Given the description of an element on the screen output the (x, y) to click on. 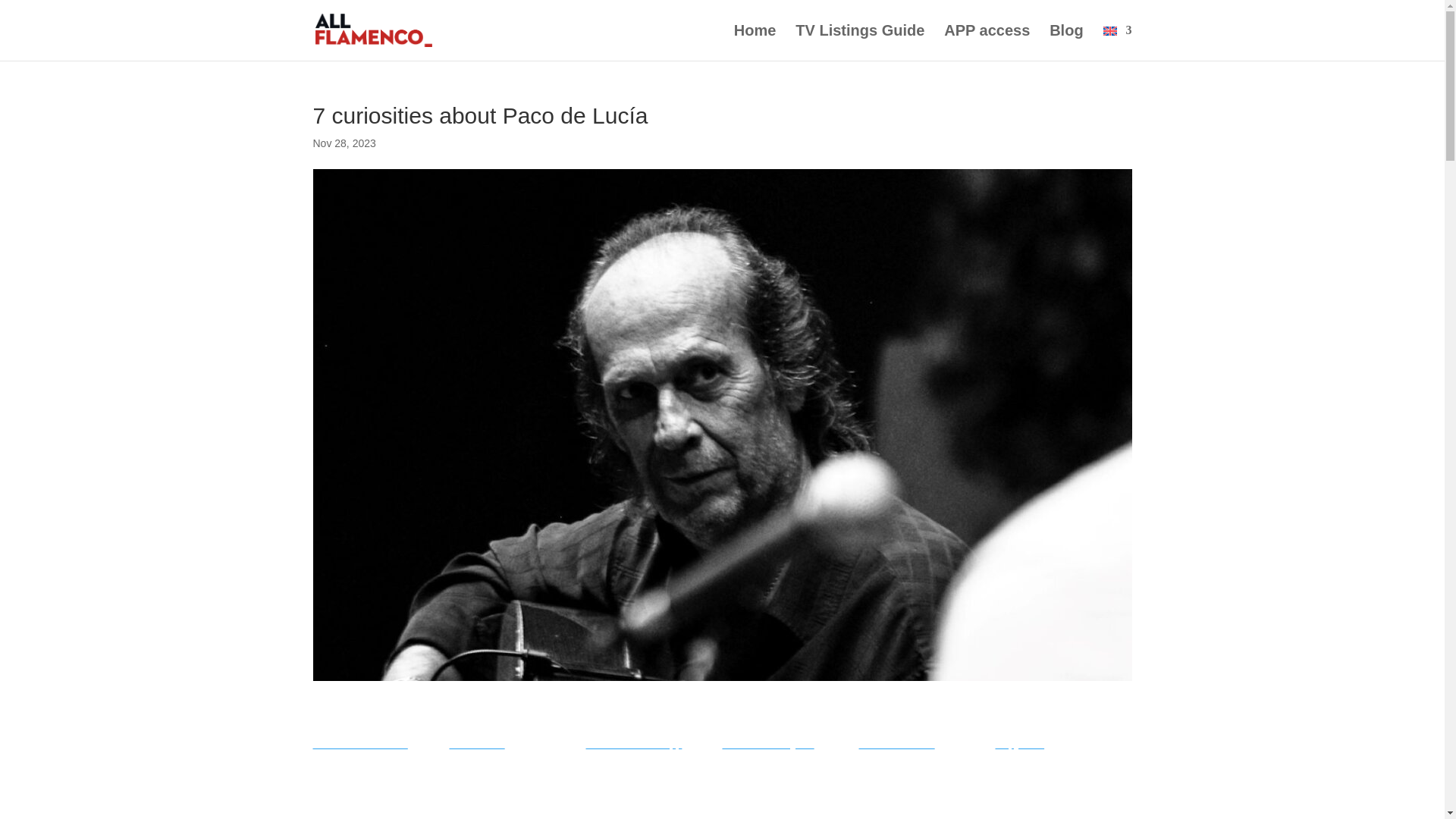
Share On X (516, 744)
TV Listings Guide (859, 42)
Copy URL (1062, 744)
Share On Telegram (790, 744)
Share On Facebook (380, 744)
Share On Whatsapp (653, 744)
Share Via Email (926, 744)
Home (754, 42)
Blog (1066, 42)
APP access (986, 42)
